Given the description of an element on the screen output the (x, y) to click on. 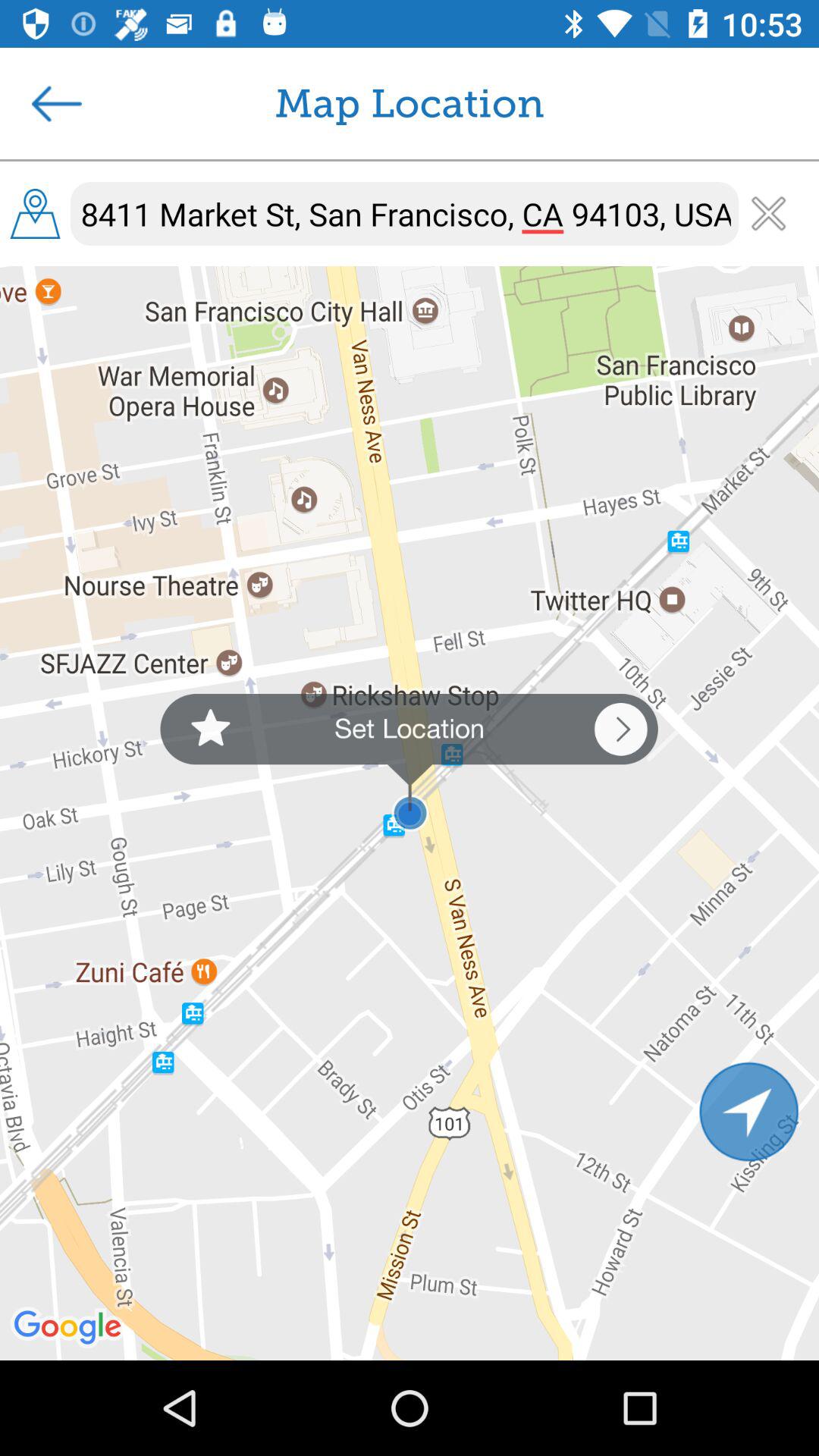
click the item below the 8411 market st (409, 813)
